Given the description of an element on the screen output the (x, y) to click on. 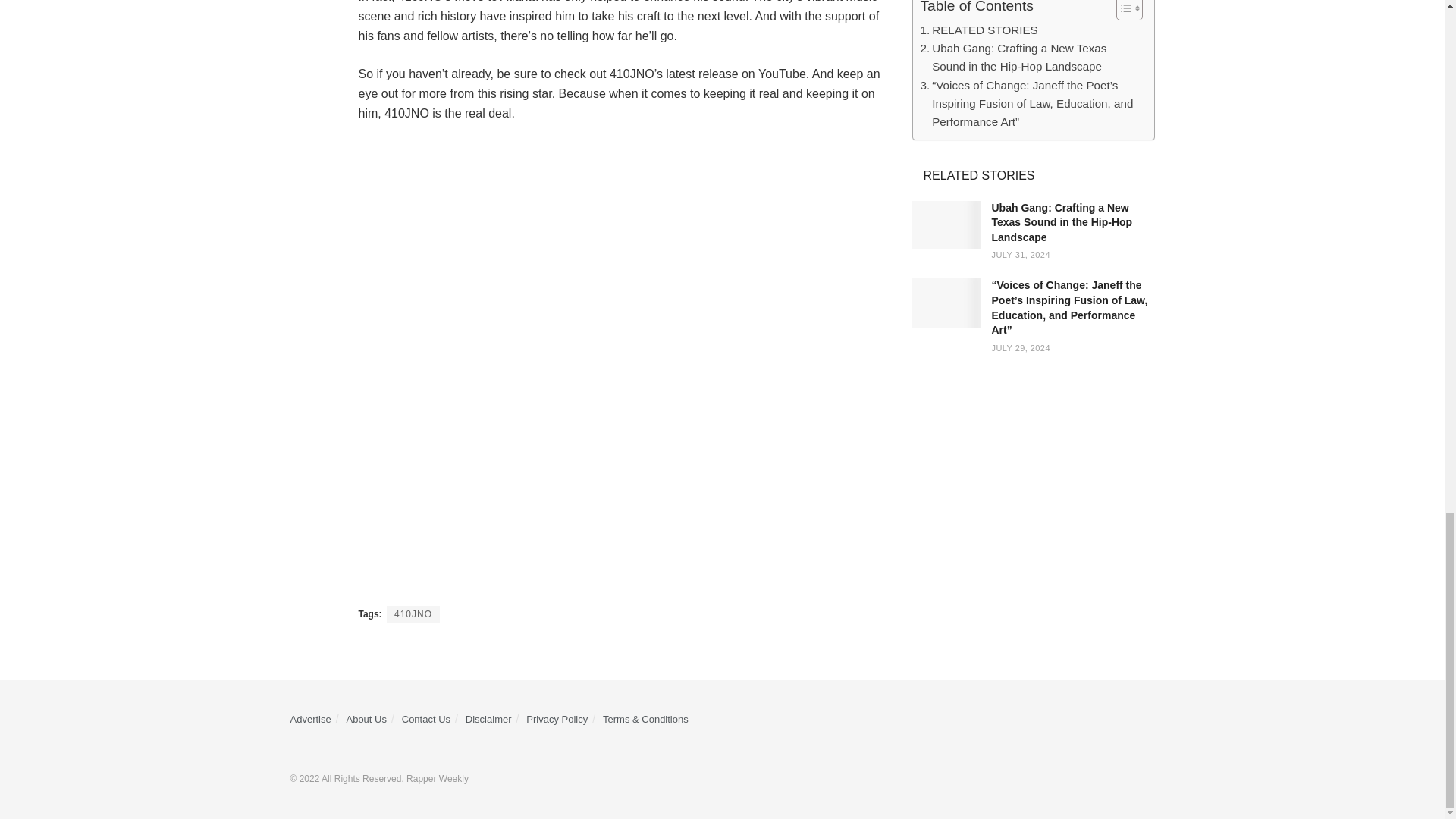
RELATED STORIES (979, 30)
RELATED STORIES (979, 30)
JULY 29, 2024 (1020, 347)
410JNO (413, 614)
JULY 31, 2024 (1020, 254)
